Given the description of an element on the screen output the (x, y) to click on. 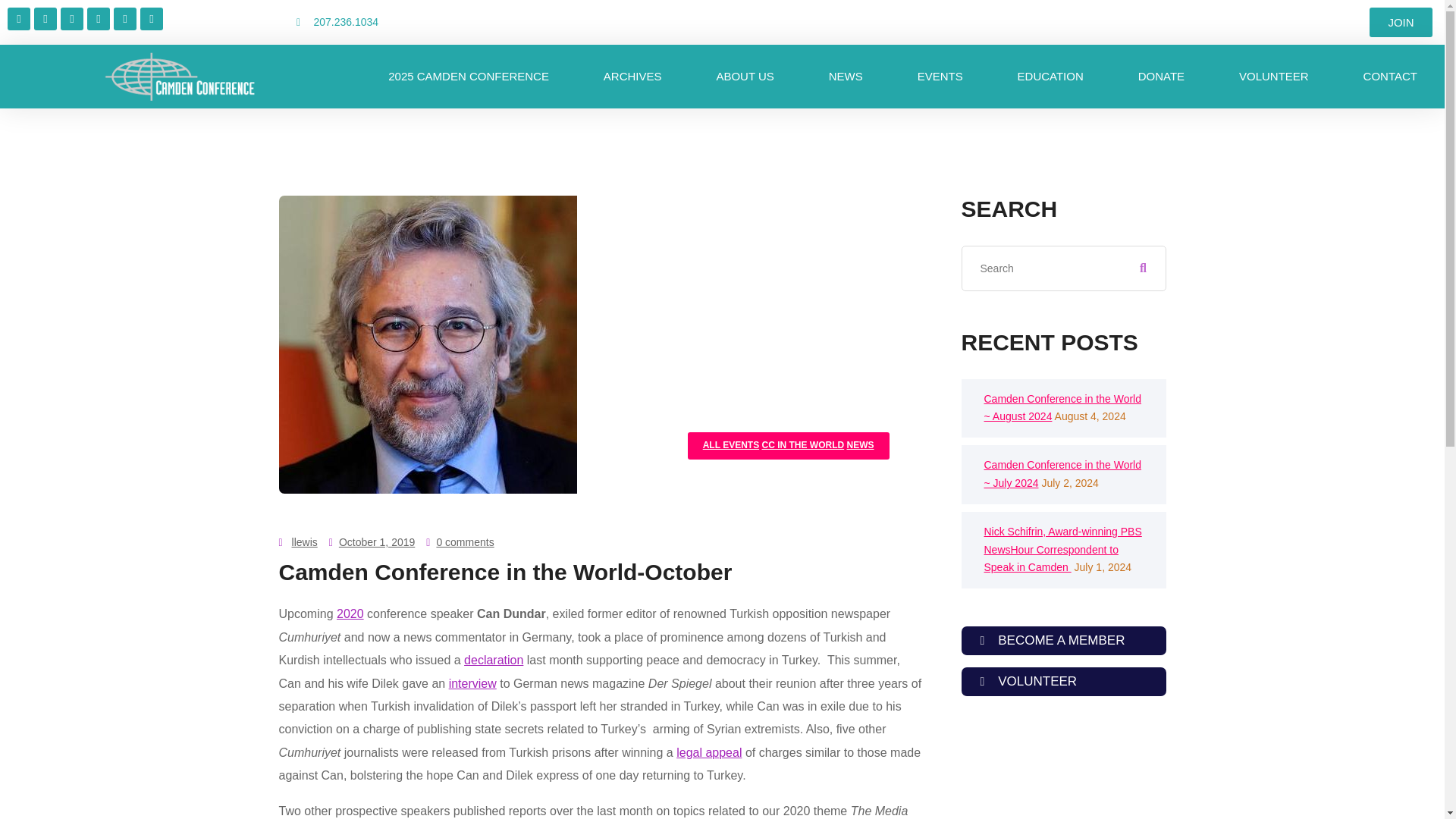
2025 CAMDEN CONFERENCE (468, 76)
207.236.1034 (433, 22)
EVENTS (939, 76)
DONATE (1160, 76)
NEWS (845, 76)
EDUCATION (1050, 76)
VOLUNTEER (1273, 76)
ABOUT US (744, 76)
JOIN (1400, 21)
ARCHIVES (632, 76)
